Given the description of an element on the screen output the (x, y) to click on. 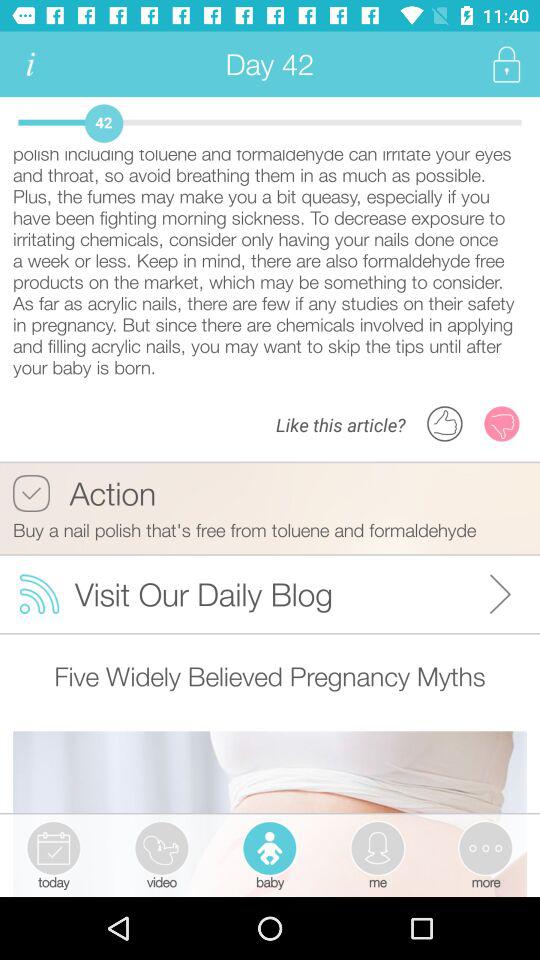
jump until thanks to your (269, 264)
